Given the description of an element on the screen output the (x, y) to click on. 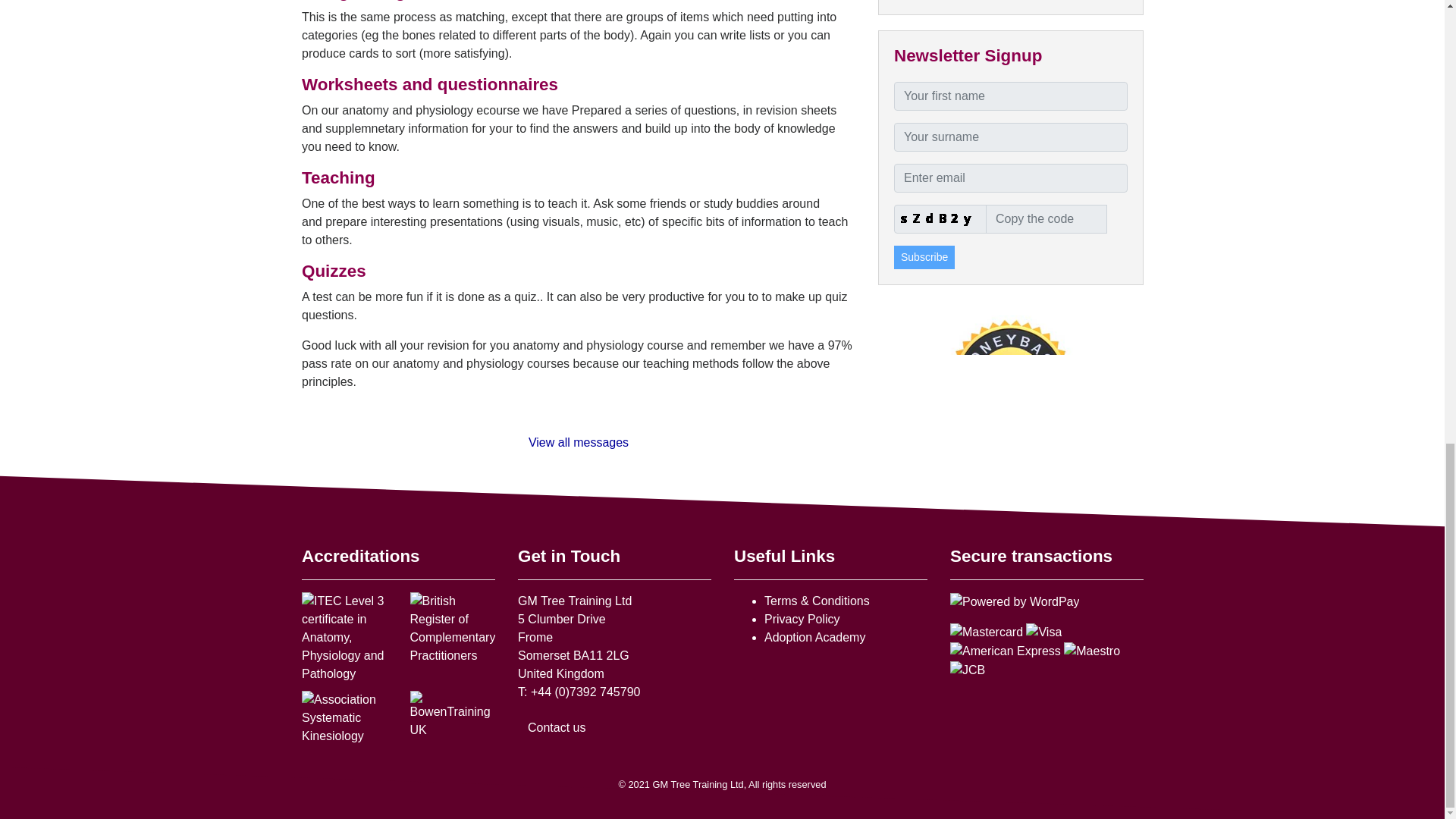
Subscribe (923, 257)
View all messages (577, 440)
